Given the description of an element on the screen output the (x, y) to click on. 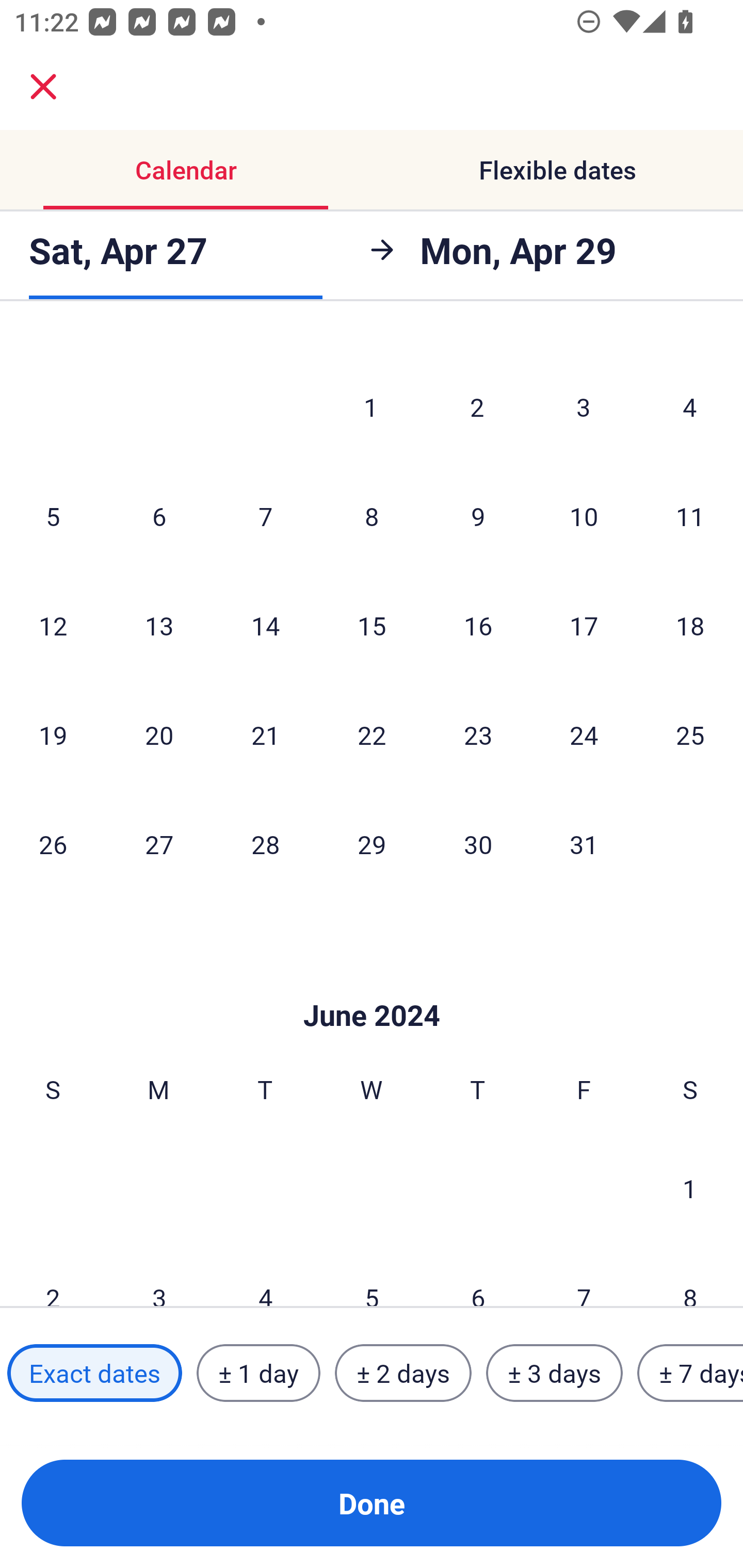
close. (43, 86)
Flexible dates (557, 170)
1 Wednesday, May 1, 2024 (371, 406)
2 Thursday, May 2, 2024 (477, 406)
3 Friday, May 3, 2024 (583, 406)
4 Saturday, May 4, 2024 (689, 406)
5 Sunday, May 5, 2024 (53, 515)
6 Monday, May 6, 2024 (159, 515)
7 Tuesday, May 7, 2024 (265, 515)
8 Wednesday, May 8, 2024 (371, 515)
9 Thursday, May 9, 2024 (477, 515)
10 Friday, May 10, 2024 (584, 515)
11 Saturday, May 11, 2024 (690, 515)
12 Sunday, May 12, 2024 (53, 625)
13 Monday, May 13, 2024 (159, 625)
14 Tuesday, May 14, 2024 (265, 625)
15 Wednesday, May 15, 2024 (371, 625)
16 Thursday, May 16, 2024 (477, 625)
17 Friday, May 17, 2024 (584, 625)
18 Saturday, May 18, 2024 (690, 625)
19 Sunday, May 19, 2024 (53, 734)
20 Monday, May 20, 2024 (159, 734)
21 Tuesday, May 21, 2024 (265, 734)
22 Wednesday, May 22, 2024 (371, 734)
23 Thursday, May 23, 2024 (477, 734)
24 Friday, May 24, 2024 (584, 734)
25 Saturday, May 25, 2024 (690, 734)
26 Sunday, May 26, 2024 (53, 843)
27 Monday, May 27, 2024 (159, 843)
28 Tuesday, May 28, 2024 (265, 843)
29 Wednesday, May 29, 2024 (371, 843)
30 Thursday, May 30, 2024 (477, 843)
31 Friday, May 31, 2024 (584, 843)
Skip to Done (371, 984)
1 Saturday, June 1, 2024 (689, 1187)
2 Sunday, June 2, 2024 (53, 1275)
3 Monday, June 3, 2024 (159, 1275)
4 Tuesday, June 4, 2024 (265, 1275)
5 Wednesday, June 5, 2024 (371, 1275)
6 Thursday, June 6, 2024 (477, 1275)
7 Friday, June 7, 2024 (584, 1275)
8 Saturday, June 8, 2024 (690, 1275)
Exact dates (94, 1372)
± 1 day (258, 1372)
± 2 days (403, 1372)
± 3 days (553, 1372)
± 7 days (690, 1372)
Done (371, 1502)
